Given the description of an element on the screen output the (x, y) to click on. 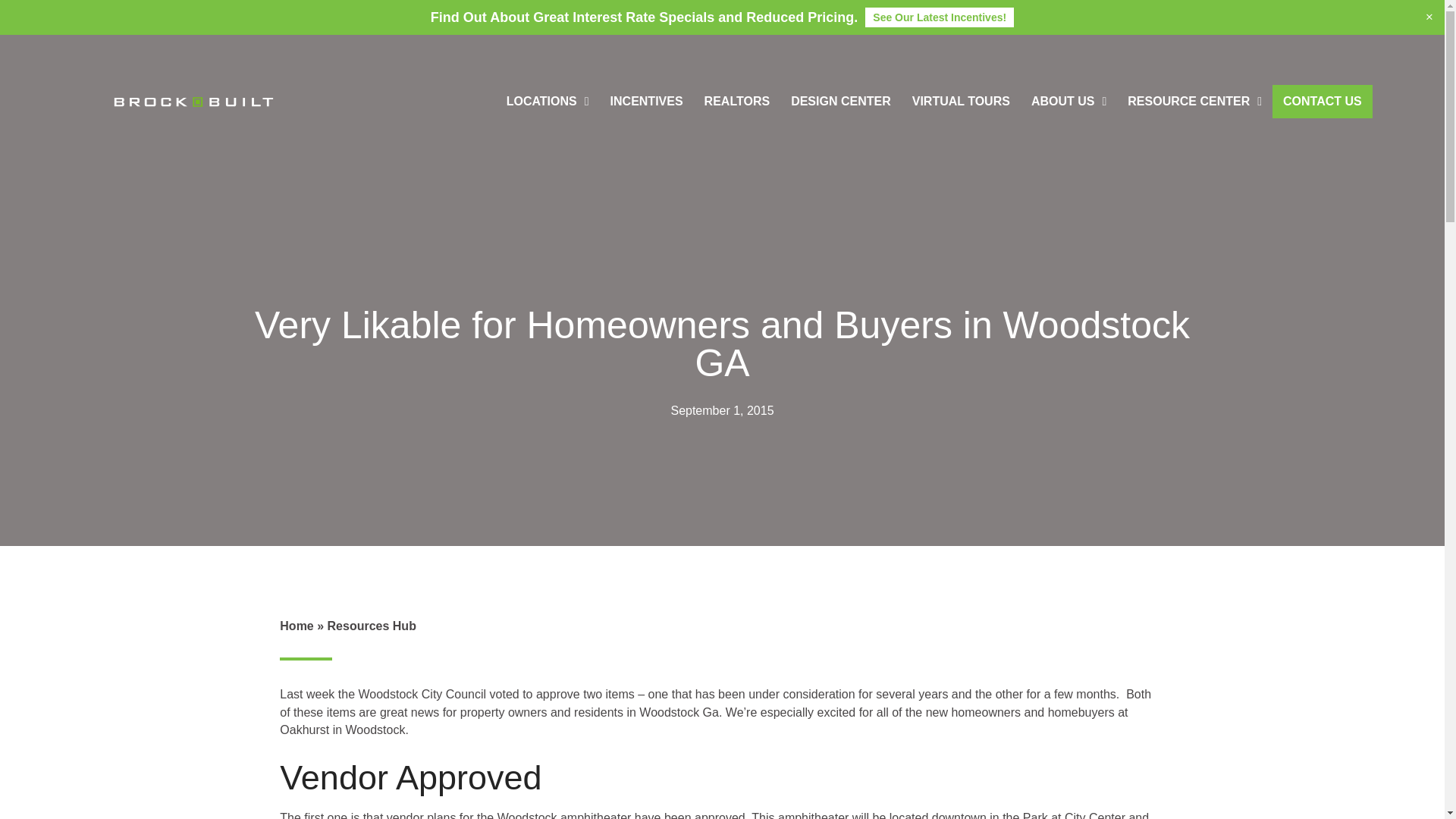
See Our Latest Incentives! (938, 17)
VIRTUAL TOURS (960, 101)
DESIGN CENTER (840, 101)
CONTACT US (1322, 101)
RESOURCE CENTER (1194, 101)
INCENTIVES (646, 101)
ABOUT US (1068, 101)
LOCATIONS (547, 101)
REALTORS (737, 101)
